Given the description of an element on the screen output the (x, y) to click on. 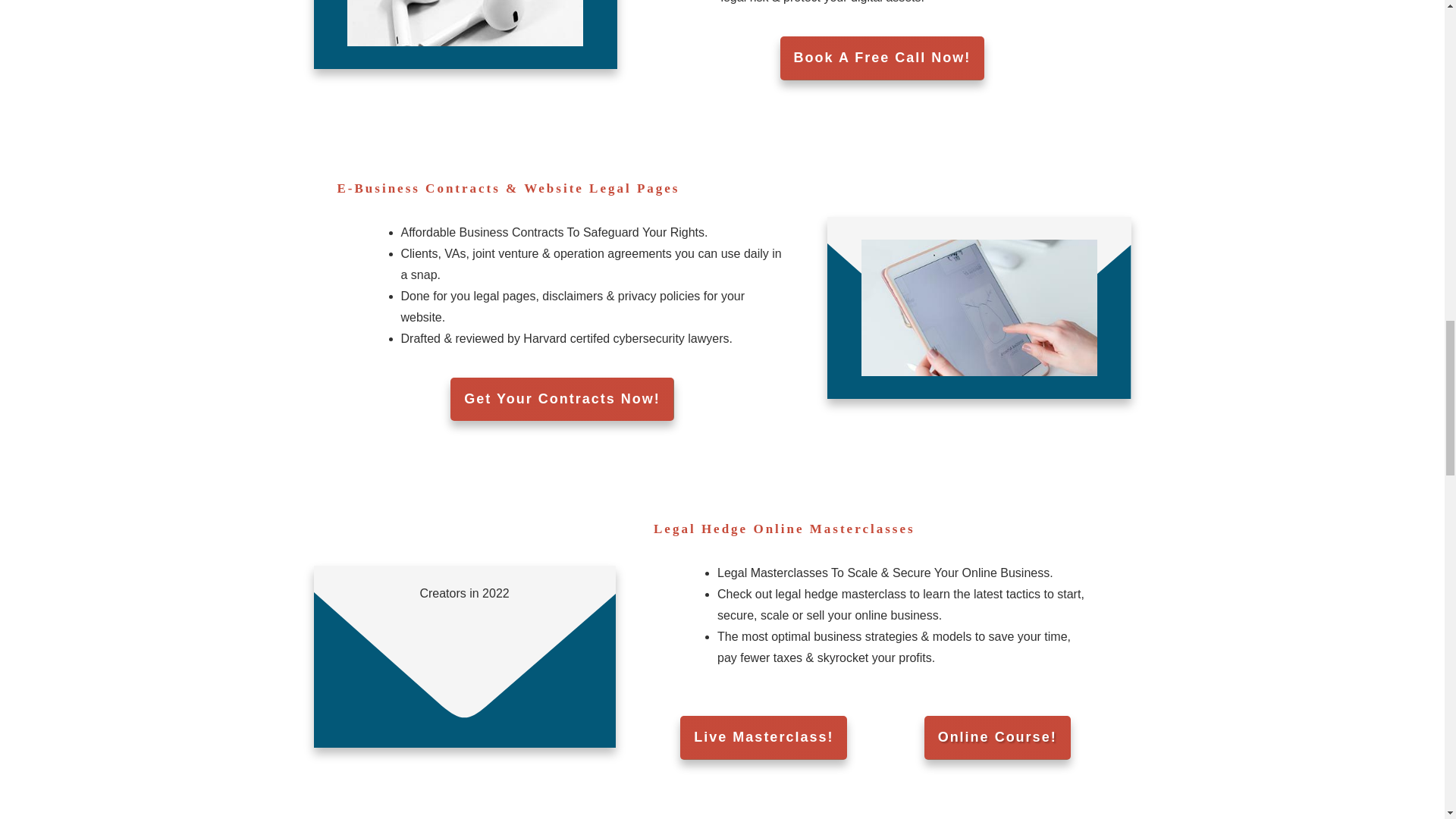
Live Masterclass! (763, 737)
Book A Free Call Now! (882, 58)
Definitive Guide For Online Course Creators in 2022 (464, 684)
Get Your Contracts Now! (560, 399)
Online Course! (997, 737)
